Given the description of an element on the screen output the (x, y) to click on. 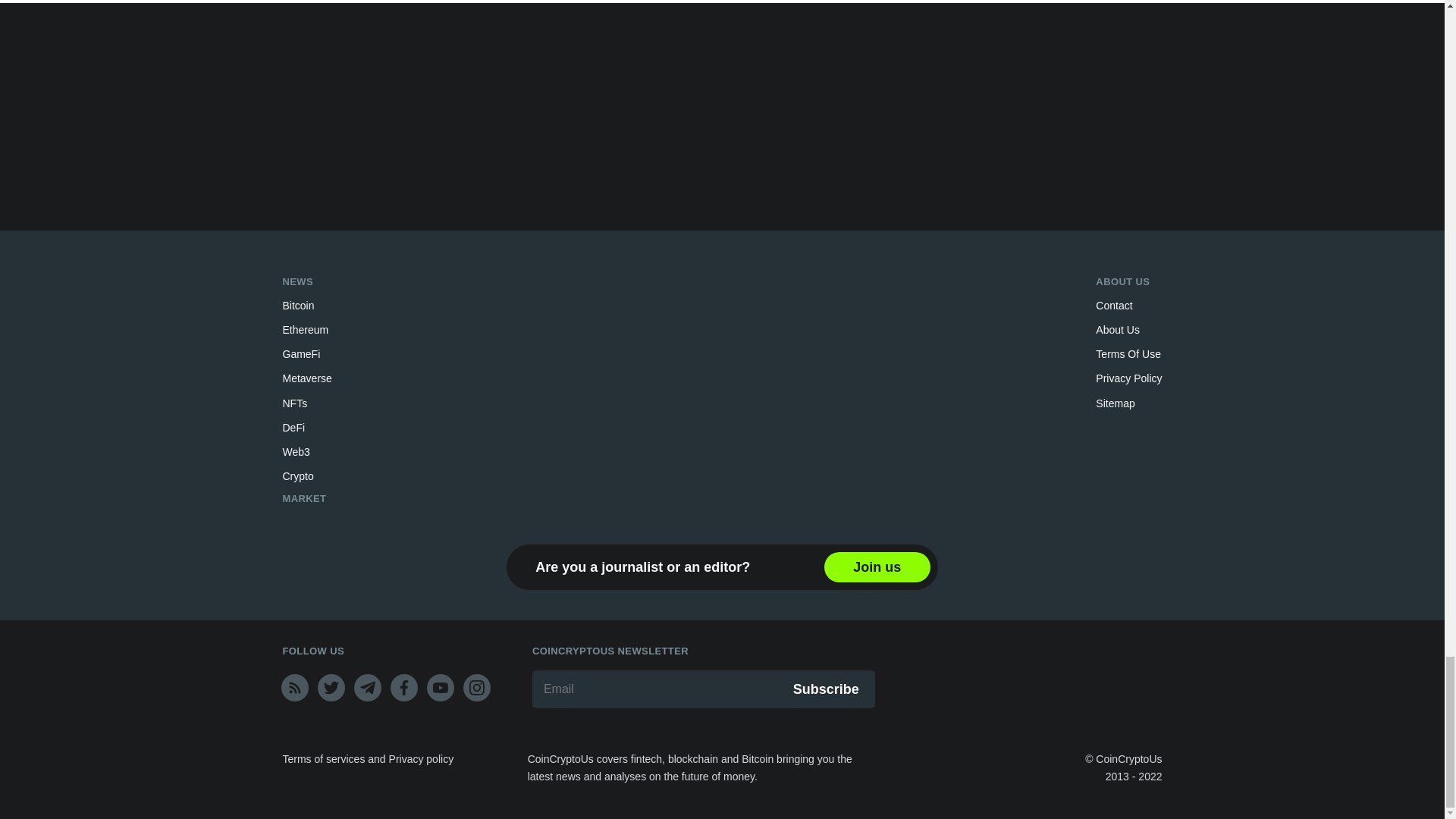
Twitter (330, 687)
Telegram (366, 687)
Rss Feed (294, 687)
Youtube (439, 687)
Facebook (403, 687)
